Given the description of an element on the screen output the (x, y) to click on. 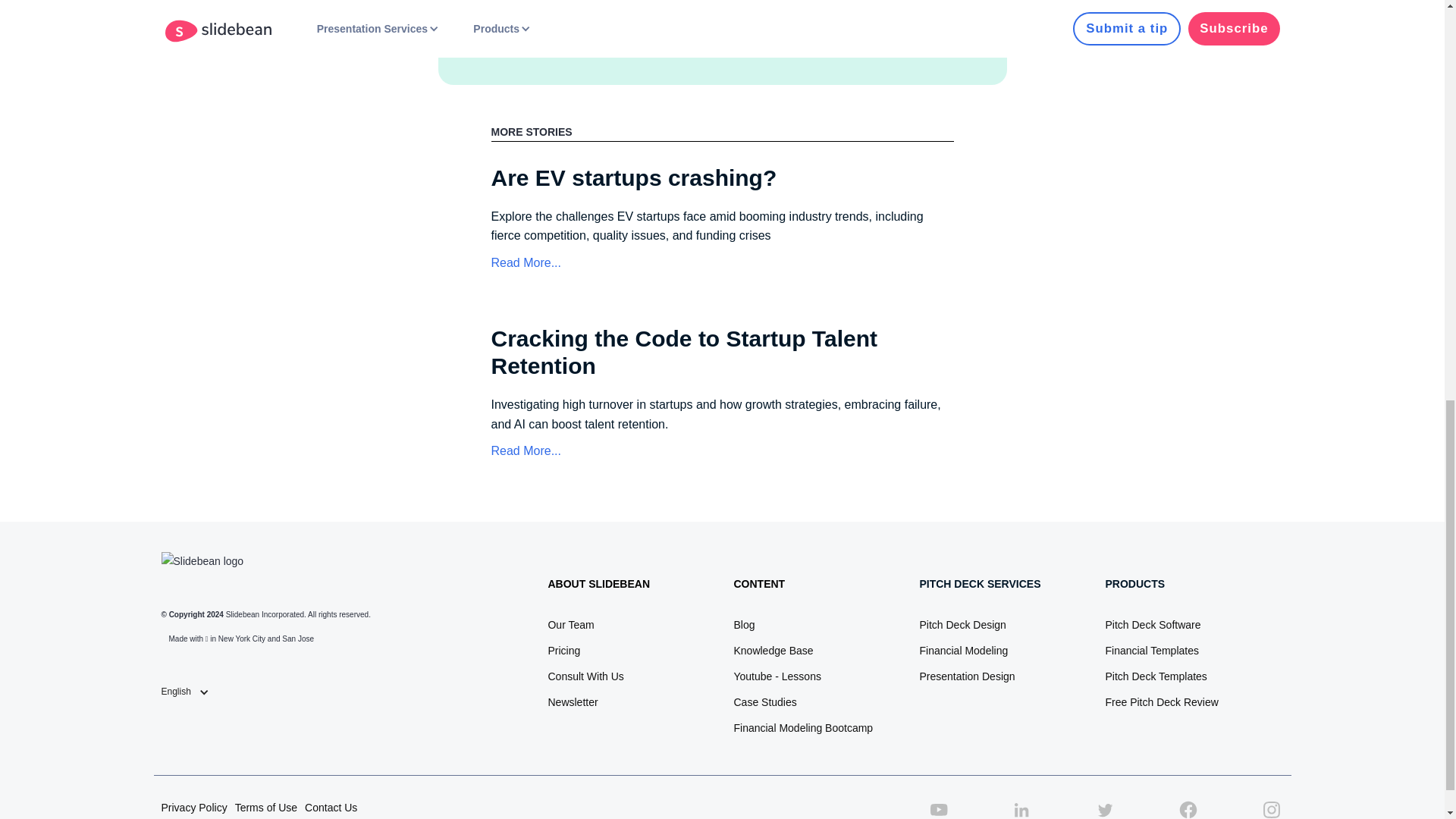
CONTENT (758, 583)
Pricing (563, 650)
Youtube - Lessons (777, 676)
Presentation Design (966, 676)
Knowledge Base (772, 650)
Blog (743, 624)
Case Studies (764, 701)
Pitch Deck Software (1152, 624)
Financial Modeling (962, 650)
Consult With Us (585, 676)
Financial Modeling Bootcamp (802, 728)
Pitch Deck Design (962, 624)
Newsletter (571, 701)
